Given the description of an element on the screen output the (x, y) to click on. 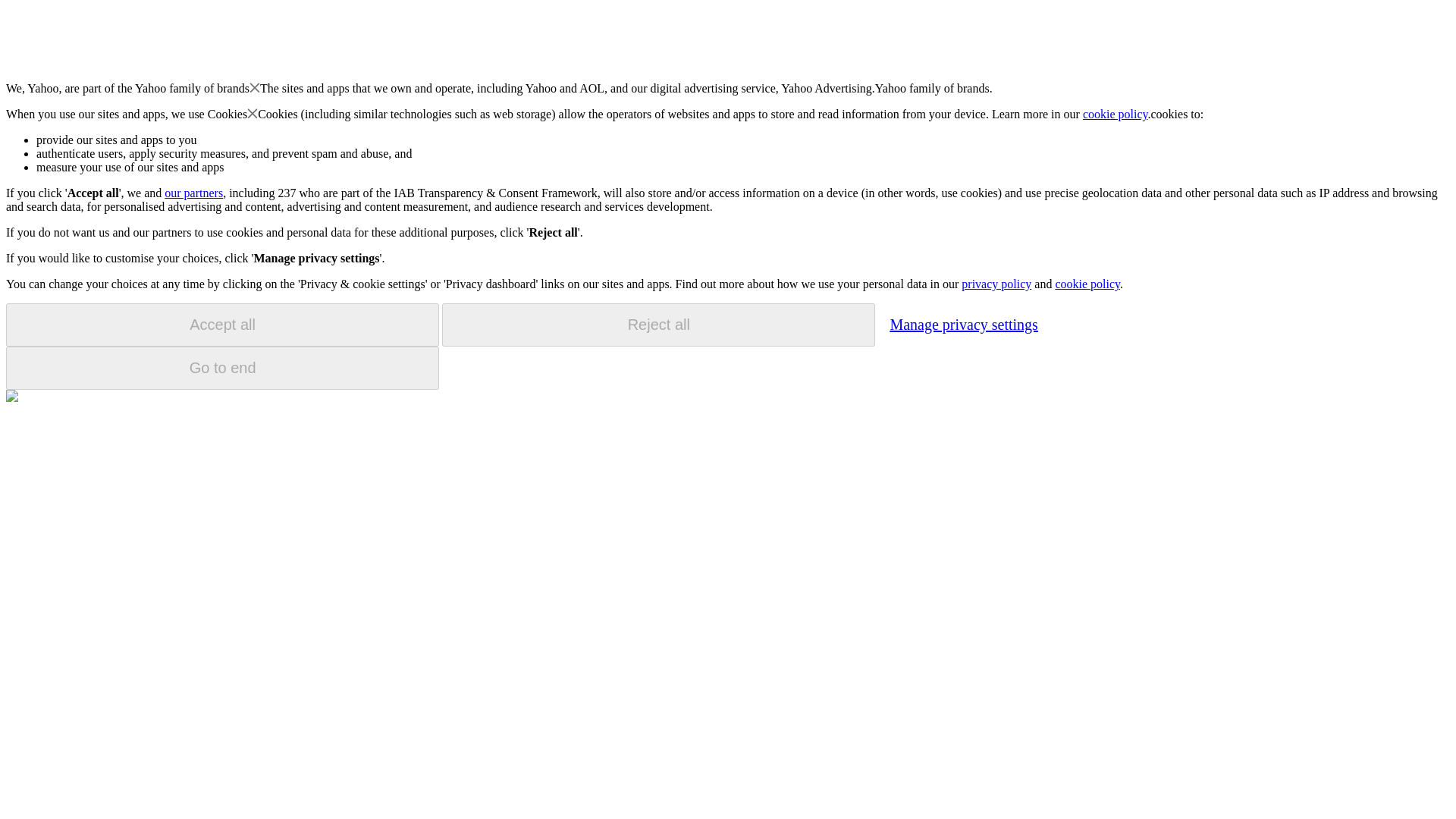
our partners (193, 192)
cookie policy (1115, 113)
Manage privacy settings (963, 323)
Accept all (222, 324)
cookie policy (1086, 283)
Go to end (222, 367)
Reject all (658, 324)
privacy policy (995, 283)
